Given the description of an element on the screen output the (x, y) to click on. 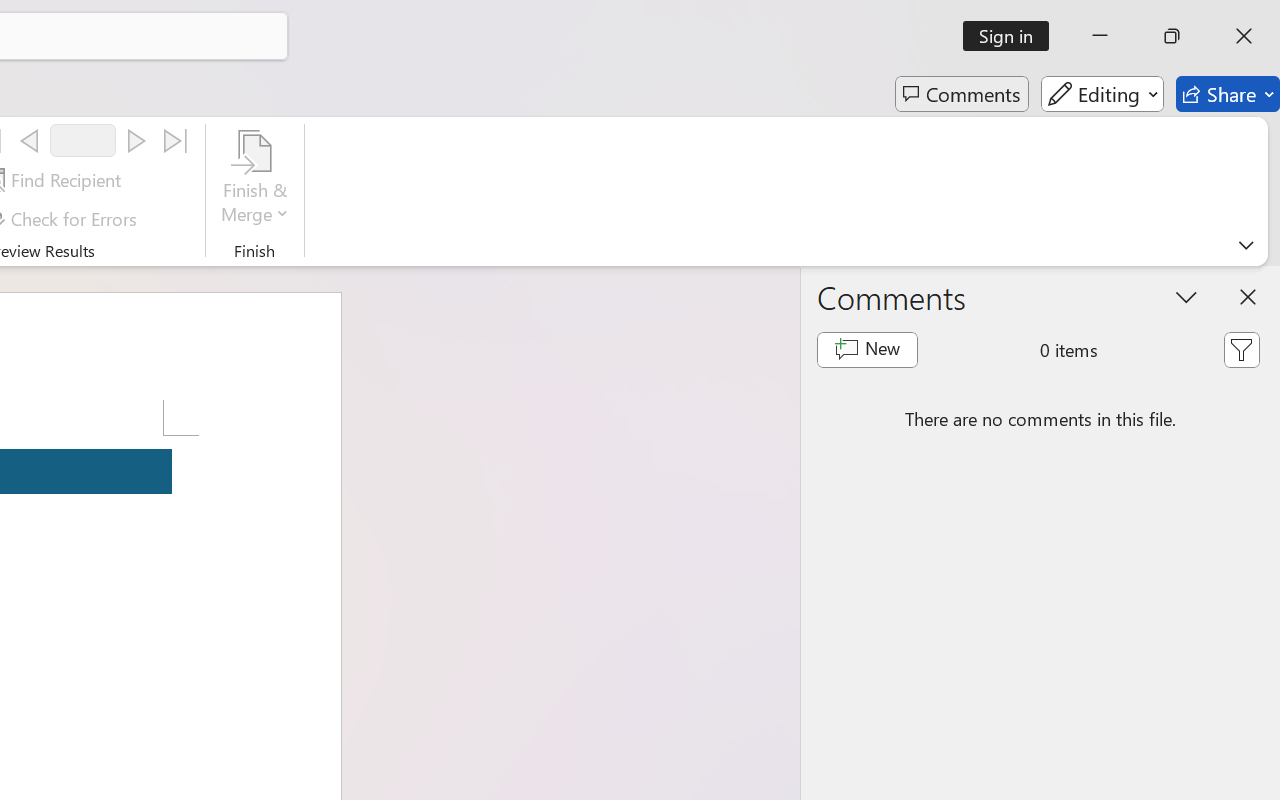
Sign in (1012, 35)
